Given the description of an element on the screen output the (x, y) to click on. 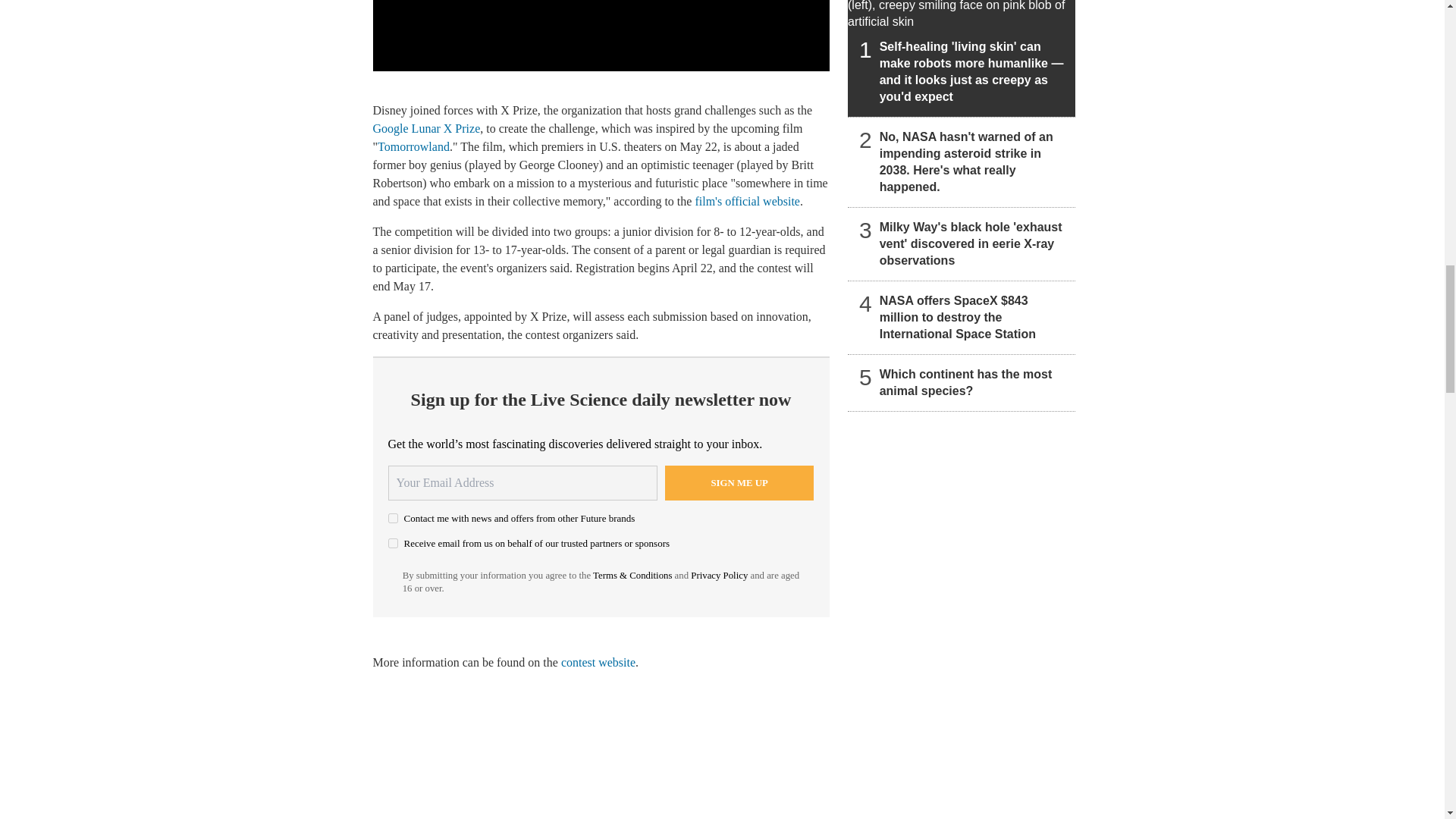
on (392, 518)
Sign me up (739, 483)
on (392, 542)
